Given the description of an element on the screen output the (x, y) to click on. 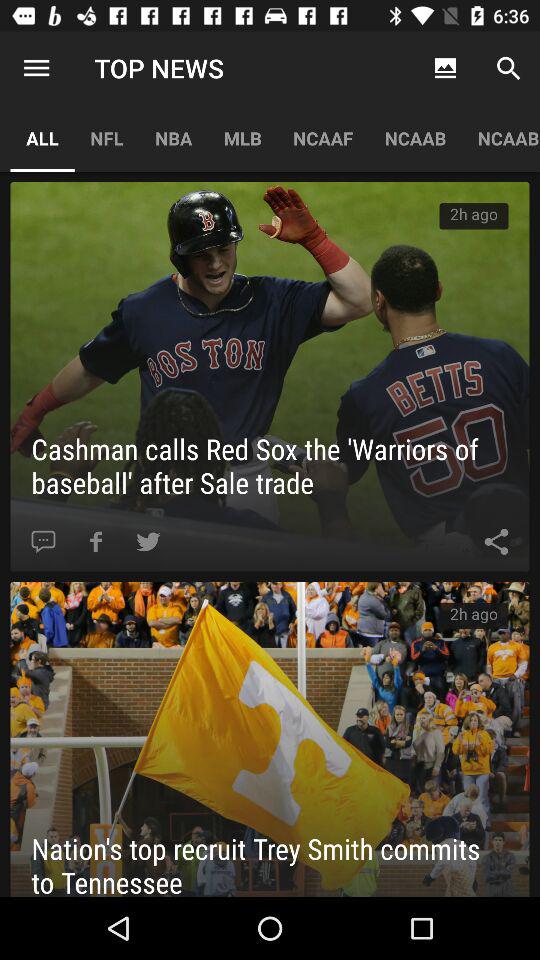
flip until the all item (42, 138)
